Given the description of an element on the screen output the (x, y) to click on. 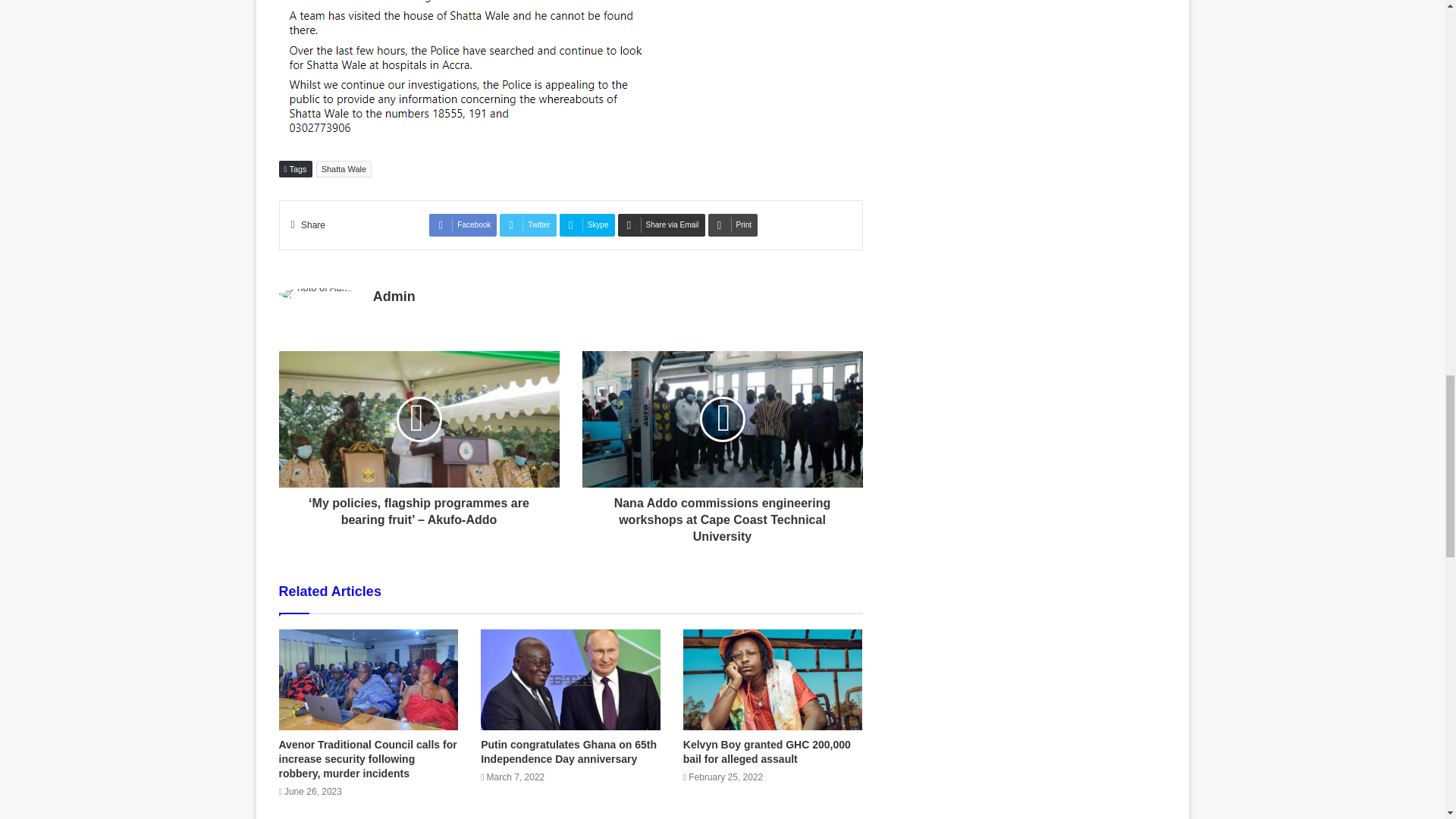
Skype (586, 224)
Print (732, 224)
Facebook (462, 224)
Twitter (527, 224)
Share via Email (660, 224)
Shatta Wale (343, 168)
Admin (393, 296)
